Given the description of an element on the screen output the (x, y) to click on. 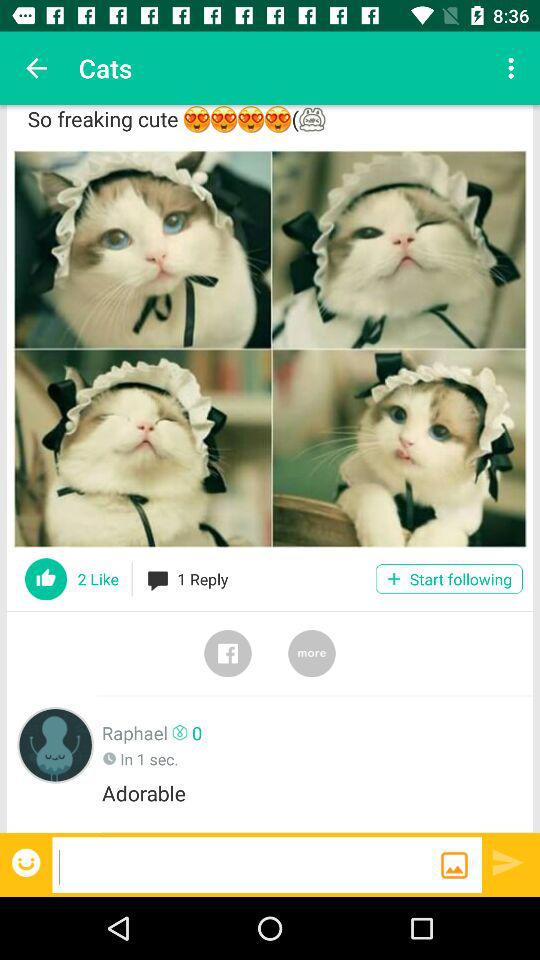
choose image from the gallery to send as a chat (454, 865)
